Given the description of an element on the screen output the (x, y) to click on. 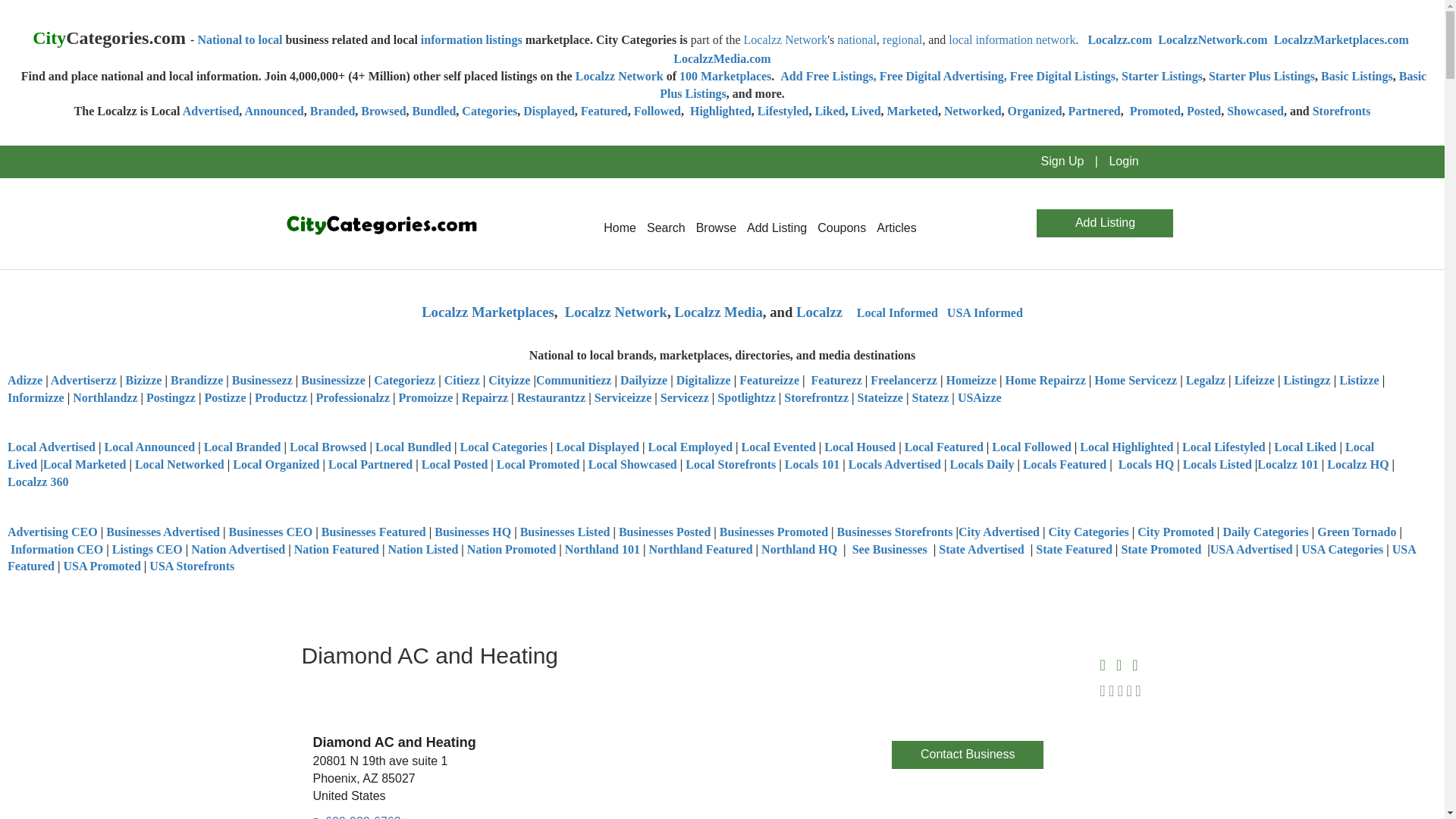
Advertised (211, 110)
LocalzzMedia.com (721, 58)
Bundled (434, 110)
Displayed (548, 110)
Lived (865, 110)
Announced (273, 110)
Followed (657, 110)
LocalzzMarketplaces.com (1341, 39)
Promoted (1154, 110)
Basic Listings (1356, 75)
Liked (828, 110)
regional (901, 39)
Starter Listings (1161, 75)
Lifestyled (783, 110)
Categories (488, 110)
